Given the description of an element on the screen output the (x, y) to click on. 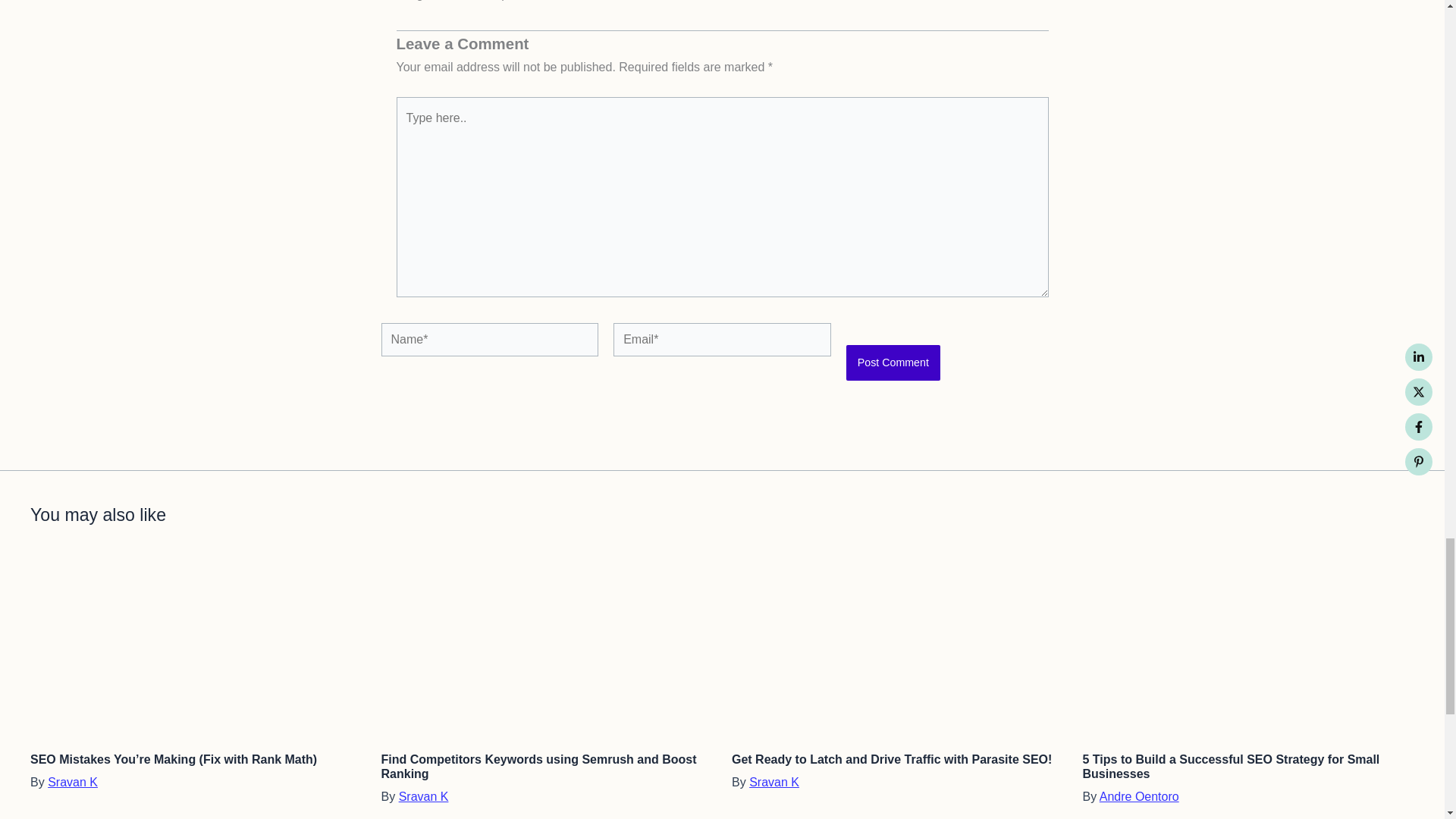
Post Comment (892, 362)
View all posts by Sravan K (72, 781)
Get Ready to Latch and Drive Traffic with Parasite SEO! (891, 758)
Sravan K (774, 781)
Post Comment (892, 362)
View all posts by Andre Oentoro (1139, 796)
Sravan K (423, 796)
Sravan K (72, 781)
View all posts by Sravan K (423, 796)
Find Competitors Keywords using Semrush and Boost Ranking 4 (546, 646)
Get Ready to Latch and Drive Traffic with Parasite SEO! 5 (898, 646)
Find Competitors Keywords using Semrush and Boost Ranking (537, 766)
View all posts by Sravan K (774, 781)
